Given the description of an element on the screen output the (x, y) to click on. 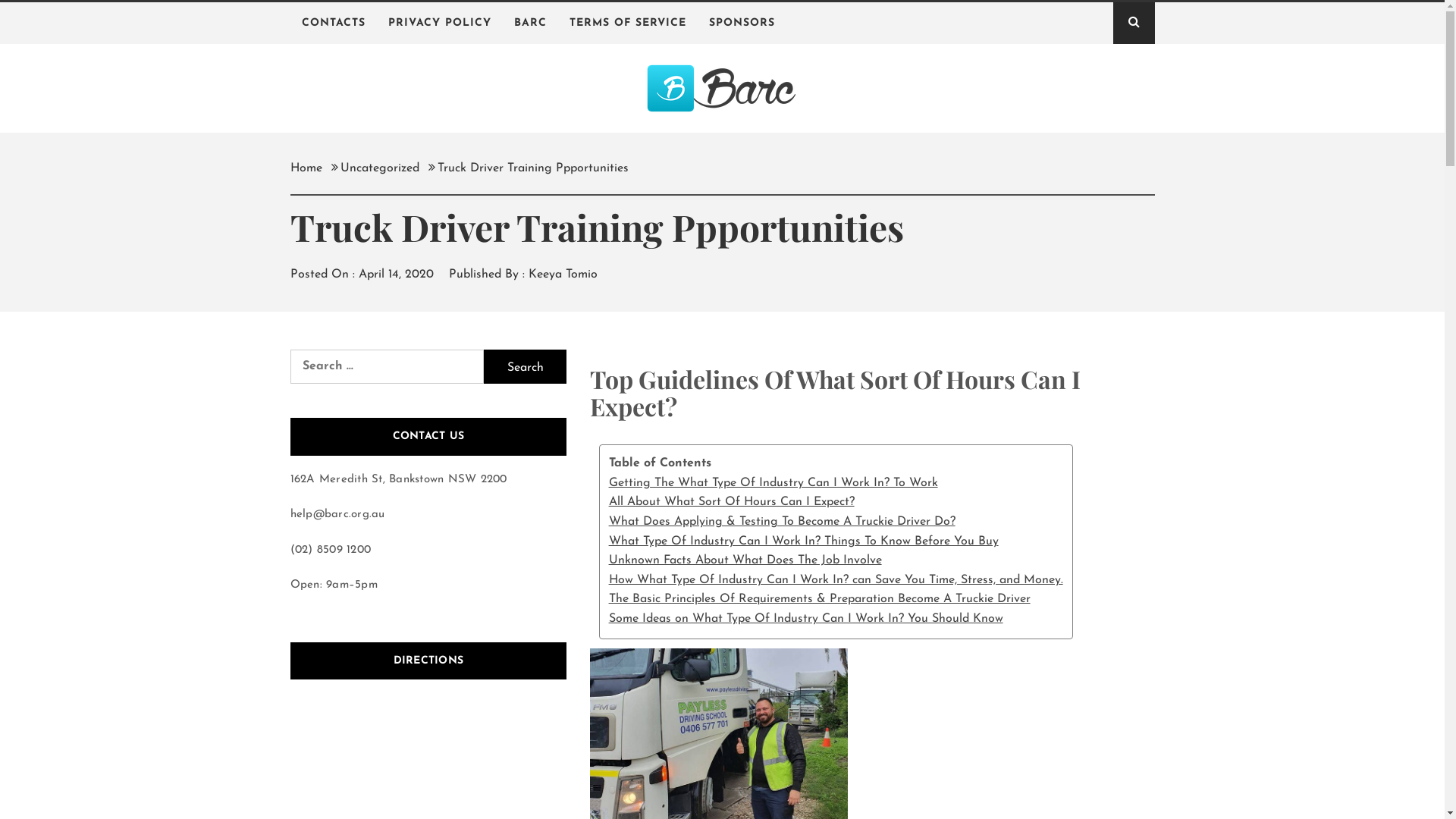
Uncategorized Element type: text (378, 168)
Skip to content Element type: text (0, 0)
Getting The What Type Of Industry Can I Work In? To Work Element type: text (835, 483)
BARC Element type: text (529, 22)
Bankstown Acceptance Refugee Center Element type: text (722, 124)
Search Element type: text (524, 366)
Home Element type: text (309, 168)
April 14, 2020 Element type: text (395, 274)
What Does Applying & Testing To Become A Truckie Driver Do? Element type: text (835, 522)
TERMS OF SERVICE Element type: text (627, 22)
Search Element type: text (797, 37)
PRIVACY POLICY Element type: text (439, 22)
CONTACTS Element type: text (332, 22)
Unknown Facts About What Does The Job Involve Element type: text (835, 561)
Keeya Tomio Element type: text (561, 274)
SPONSORS Element type: text (741, 22)
All About What Sort Of Hours Can I Expect? Element type: text (835, 502)
